Given the description of an element on the screen output the (x, y) to click on. 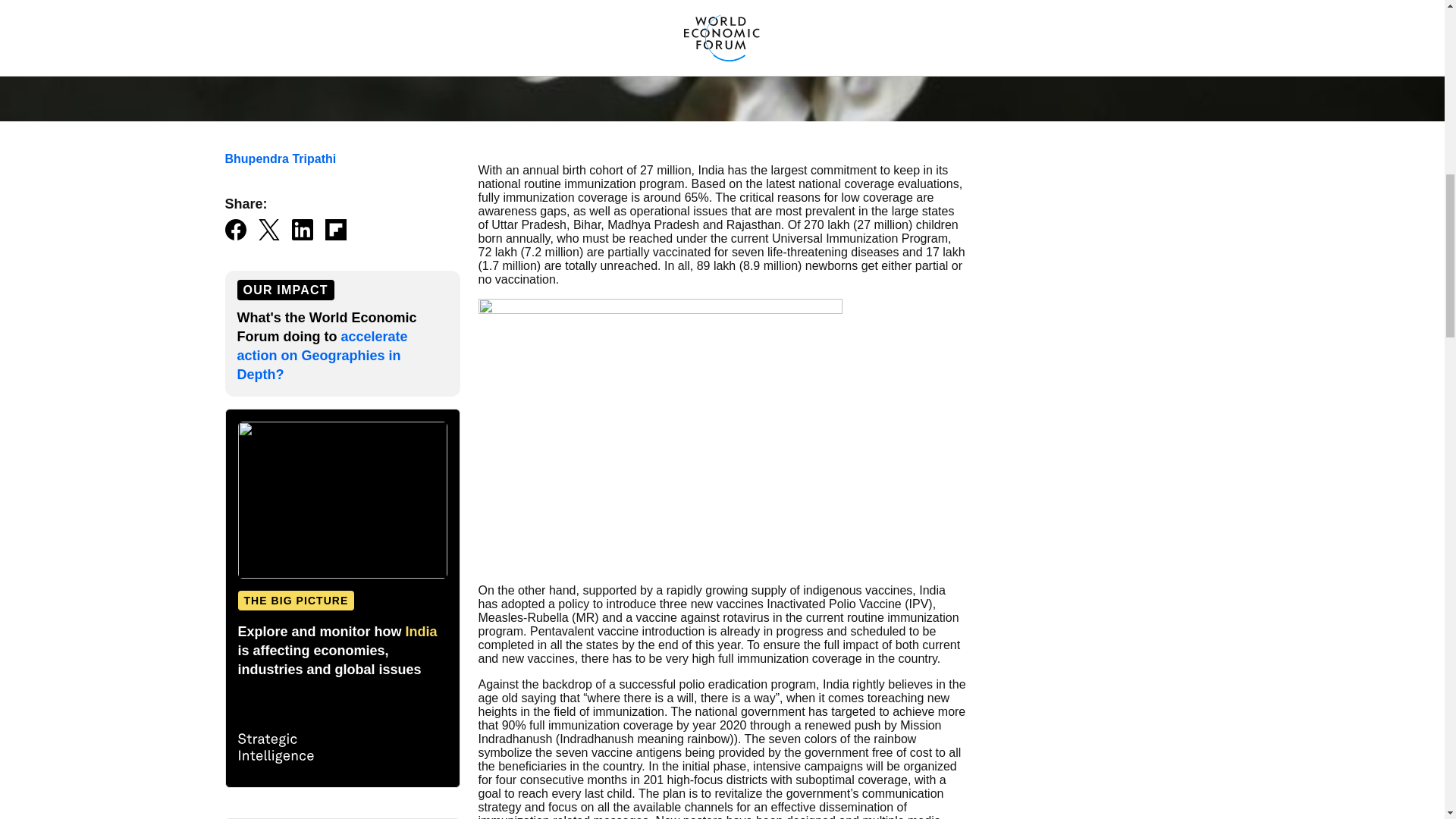
Bhupendra Tripathi (280, 158)
